Given the description of an element on the screen output the (x, y) to click on. 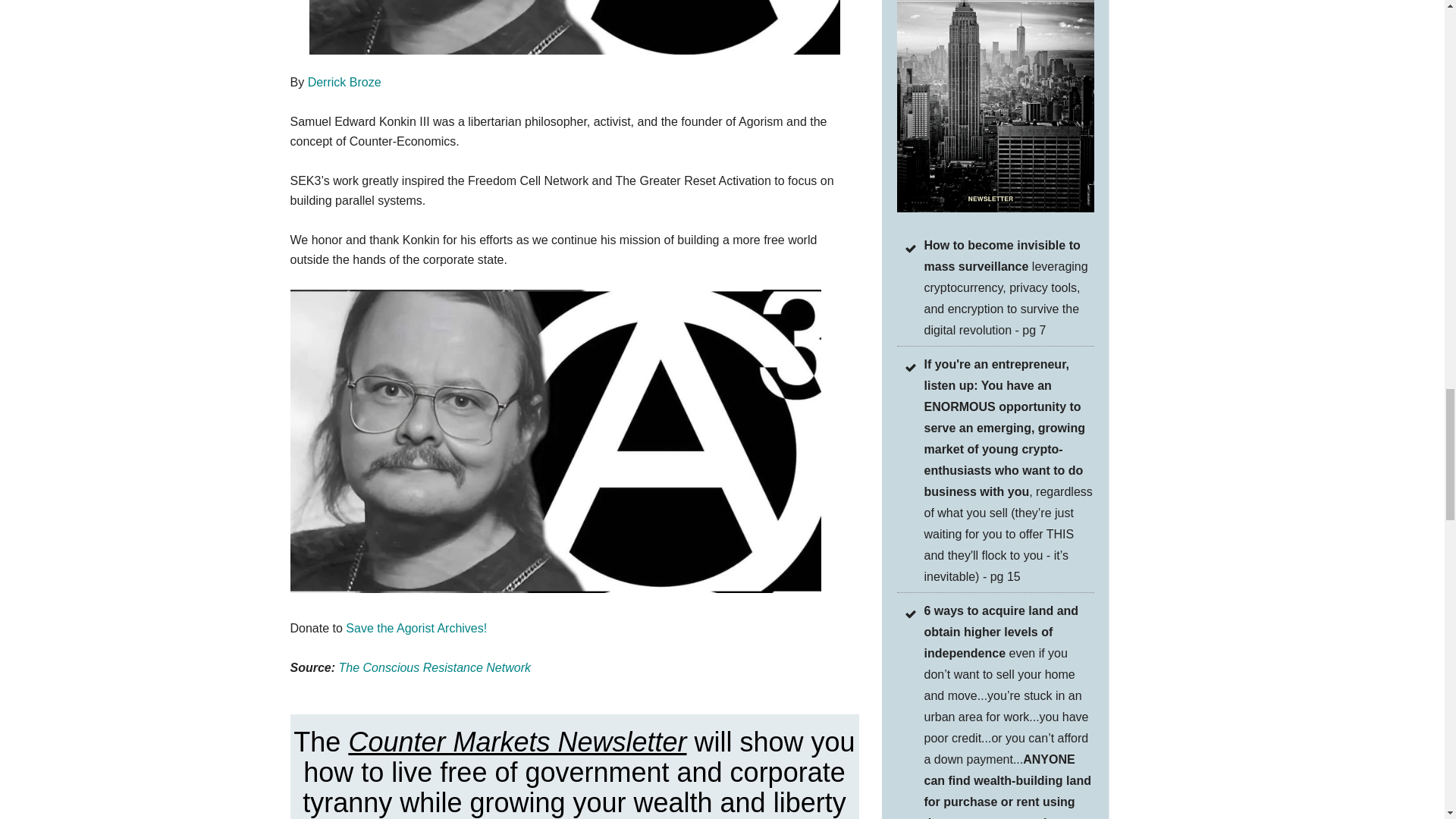
Save the Agorist Archives! (416, 627)
Derrick Broze (344, 82)
The Conscious Resistance Network (435, 667)
countermarketscover (994, 106)
